Given the description of an element on the screen output the (x, y) to click on. 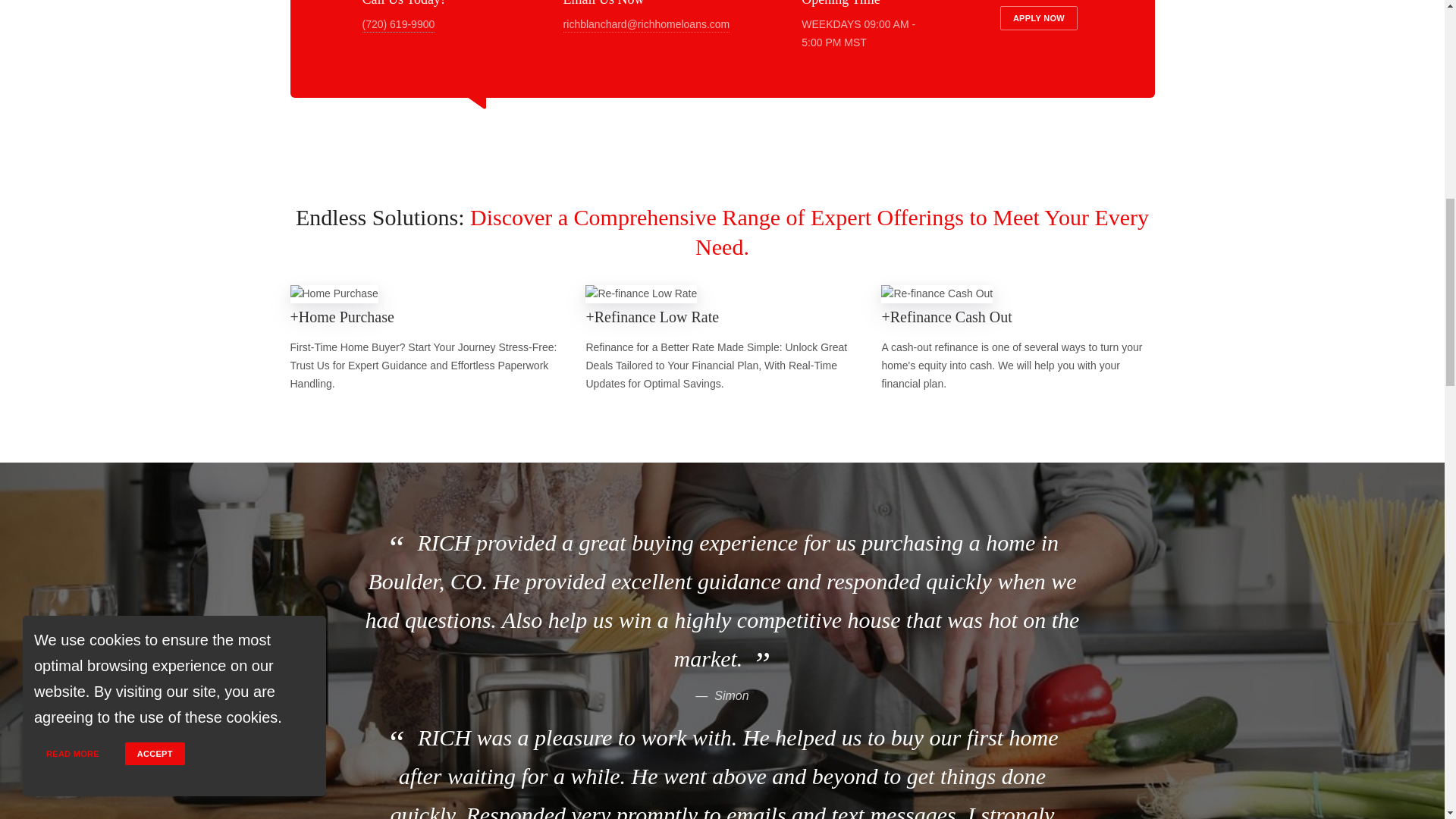
APPLY NOW (1038, 17)
Source Title (731, 695)
